Given the description of an element on the screen output the (x, y) to click on. 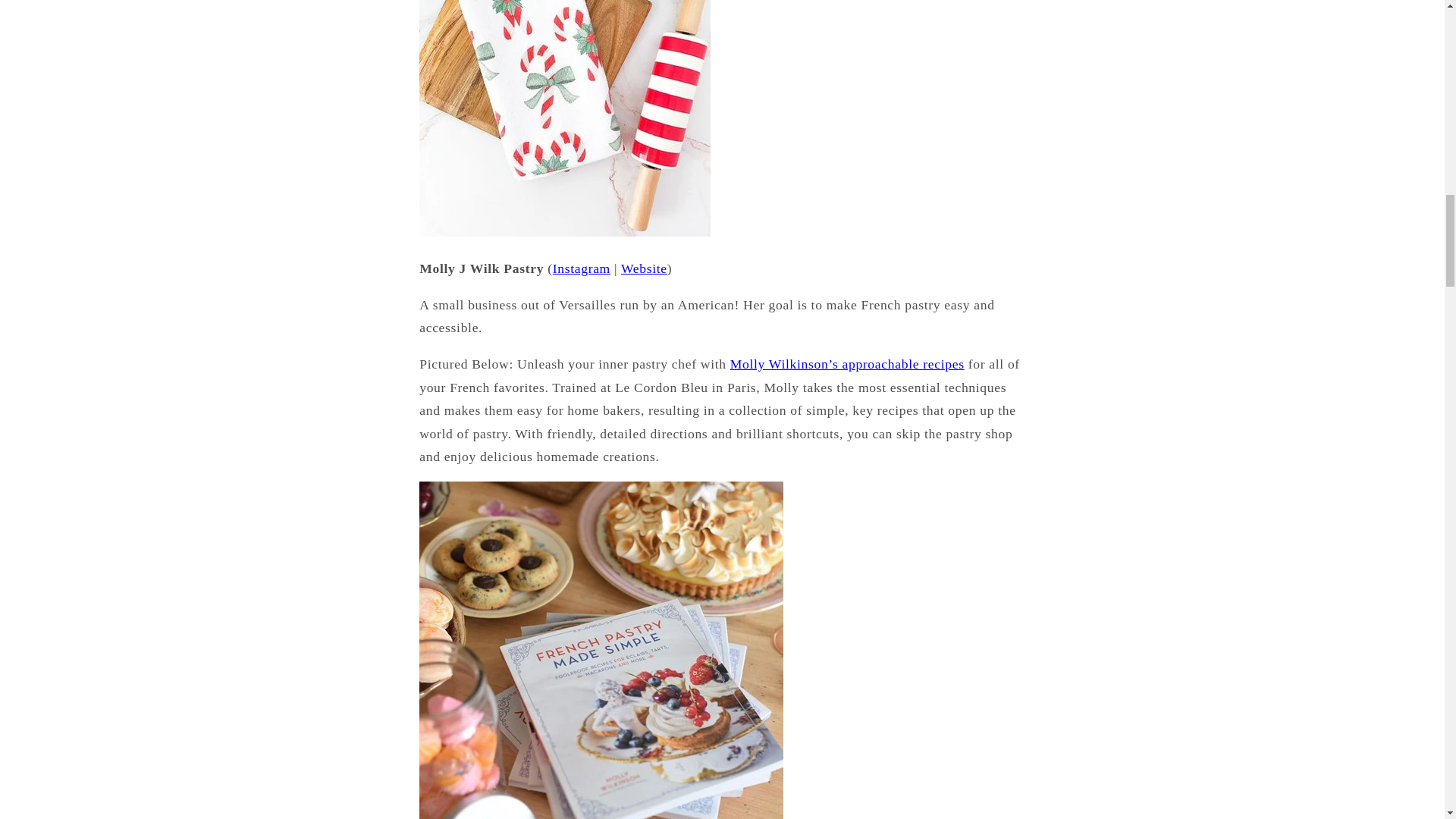
candy cane decorative hand towel (564, 231)
molly j wilk pastry cookbook (846, 363)
shopping link for molly j wilk (643, 268)
instagram link to pastry chef (581, 268)
